Given the description of an element on the screen output the (x, y) to click on. 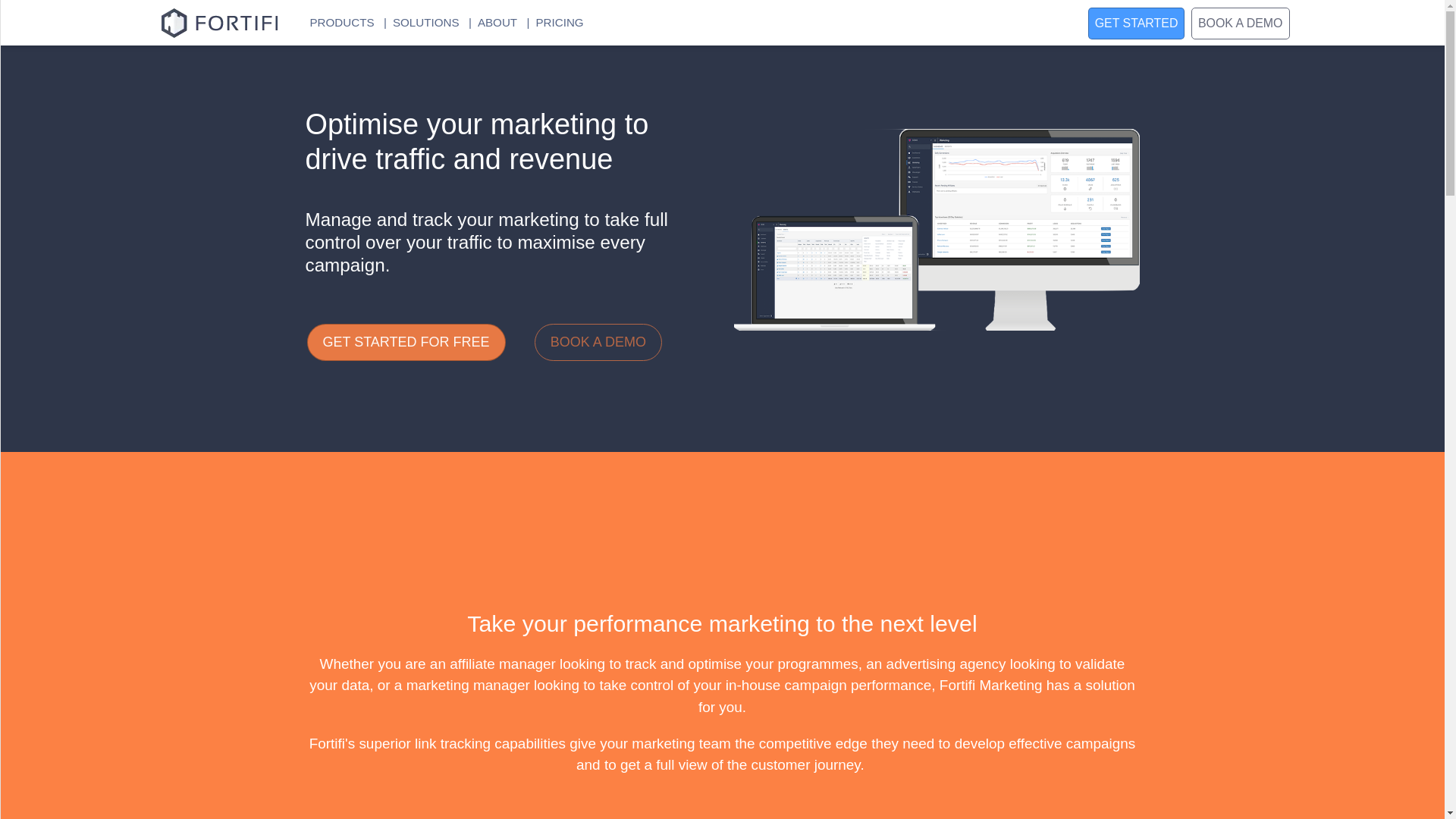
ABOUT (489, 21)
Products (96, 65)
About (96, 142)
PRODUCTS (335, 21)
PRICING (552, 21)
Solutions (96, 104)
Fortifi Business Solutions (217, 22)
GET STARTED (1136, 22)
BOOK A DEMO (1240, 22)
BOOK A DEMO (598, 341)
